Given the description of an element on the screen output the (x, y) to click on. 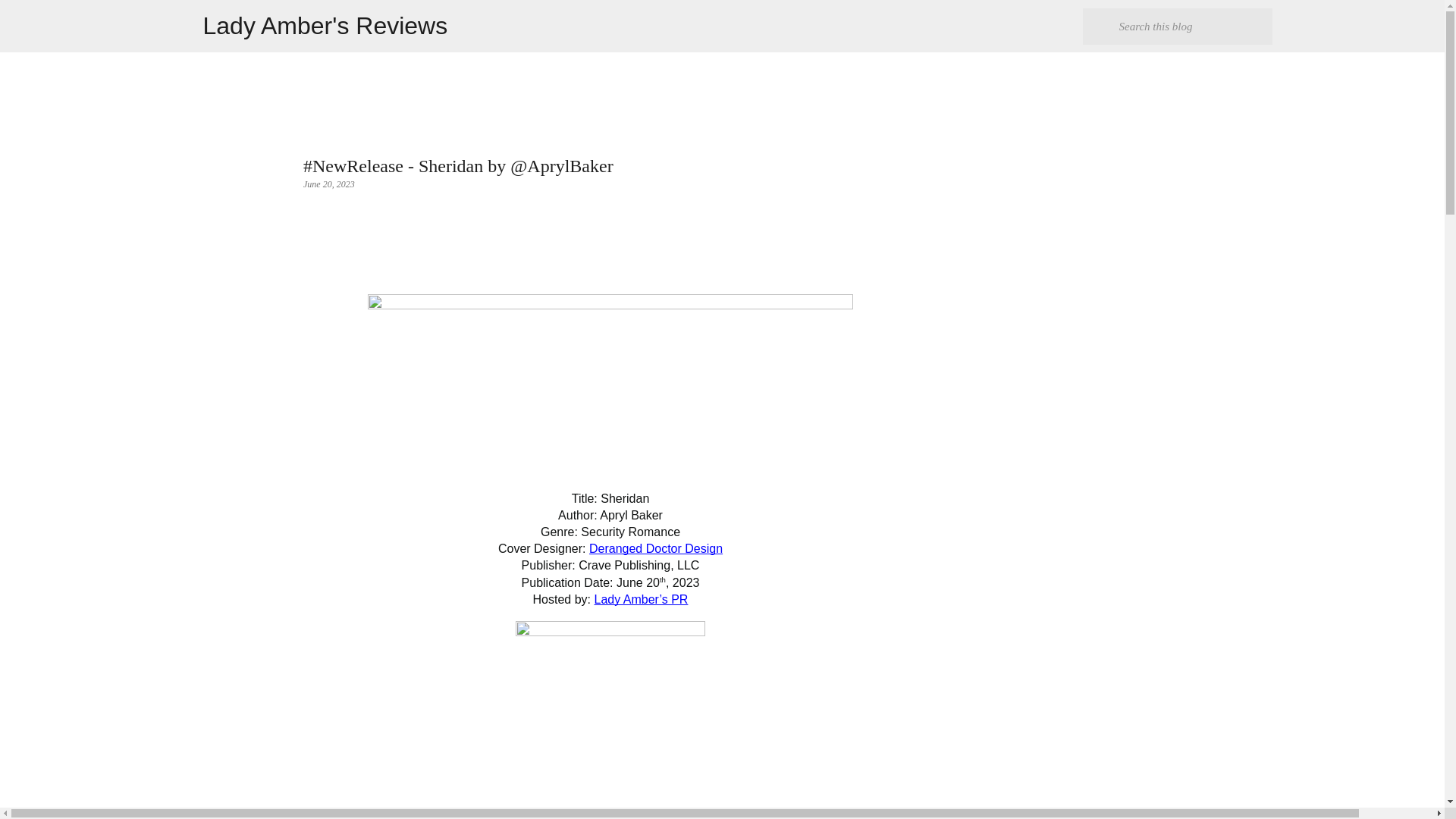
June 20, 2023 (328, 184)
Lady Amber's Reviews (325, 25)
permanent link (328, 184)
 Deranged Doctor Design (654, 548)
